Given the description of an element on the screen output the (x, y) to click on. 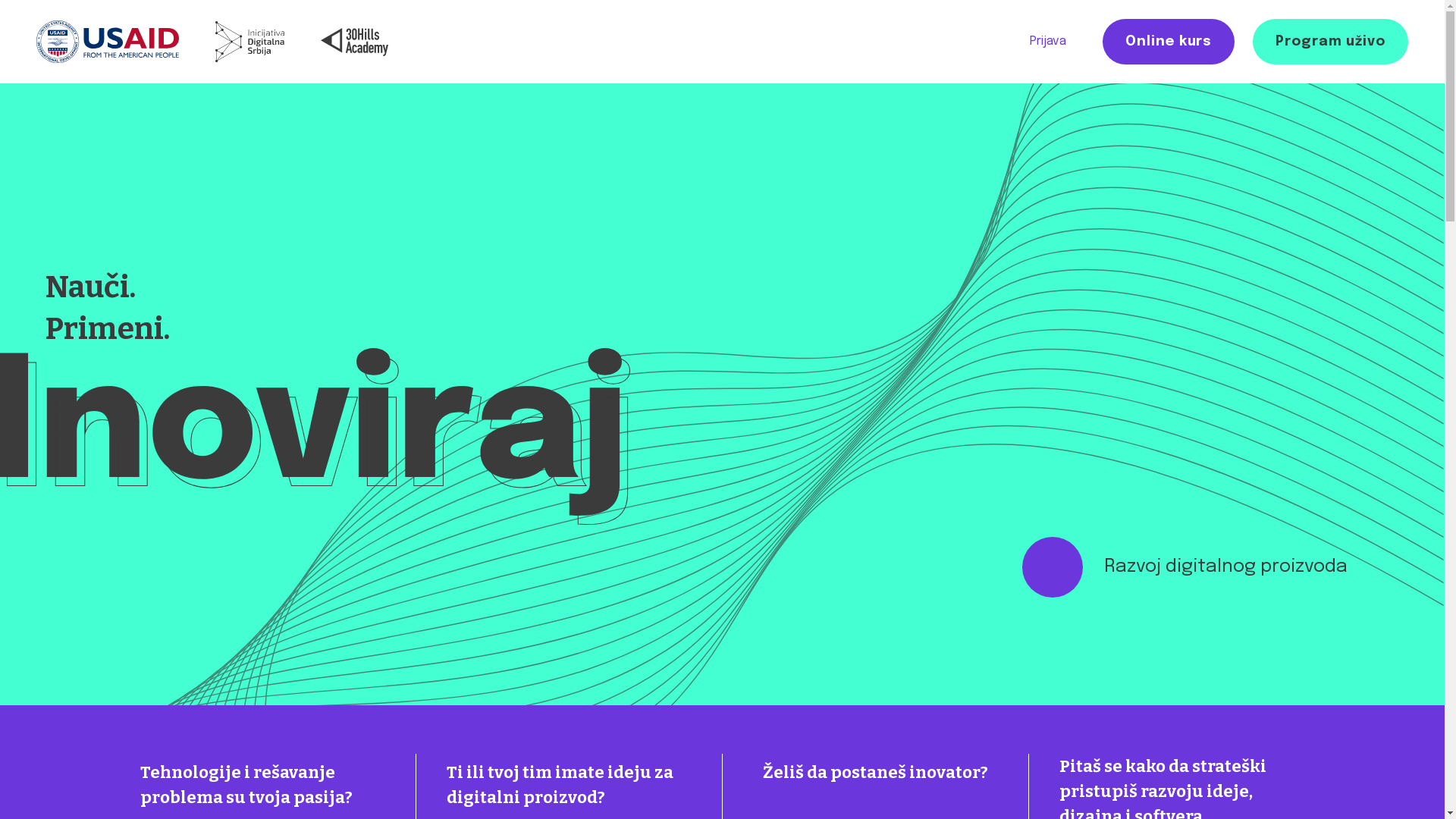
Online kurs Element type: text (1168, 41)
